Given the description of an element on the screen output the (x, y) to click on. 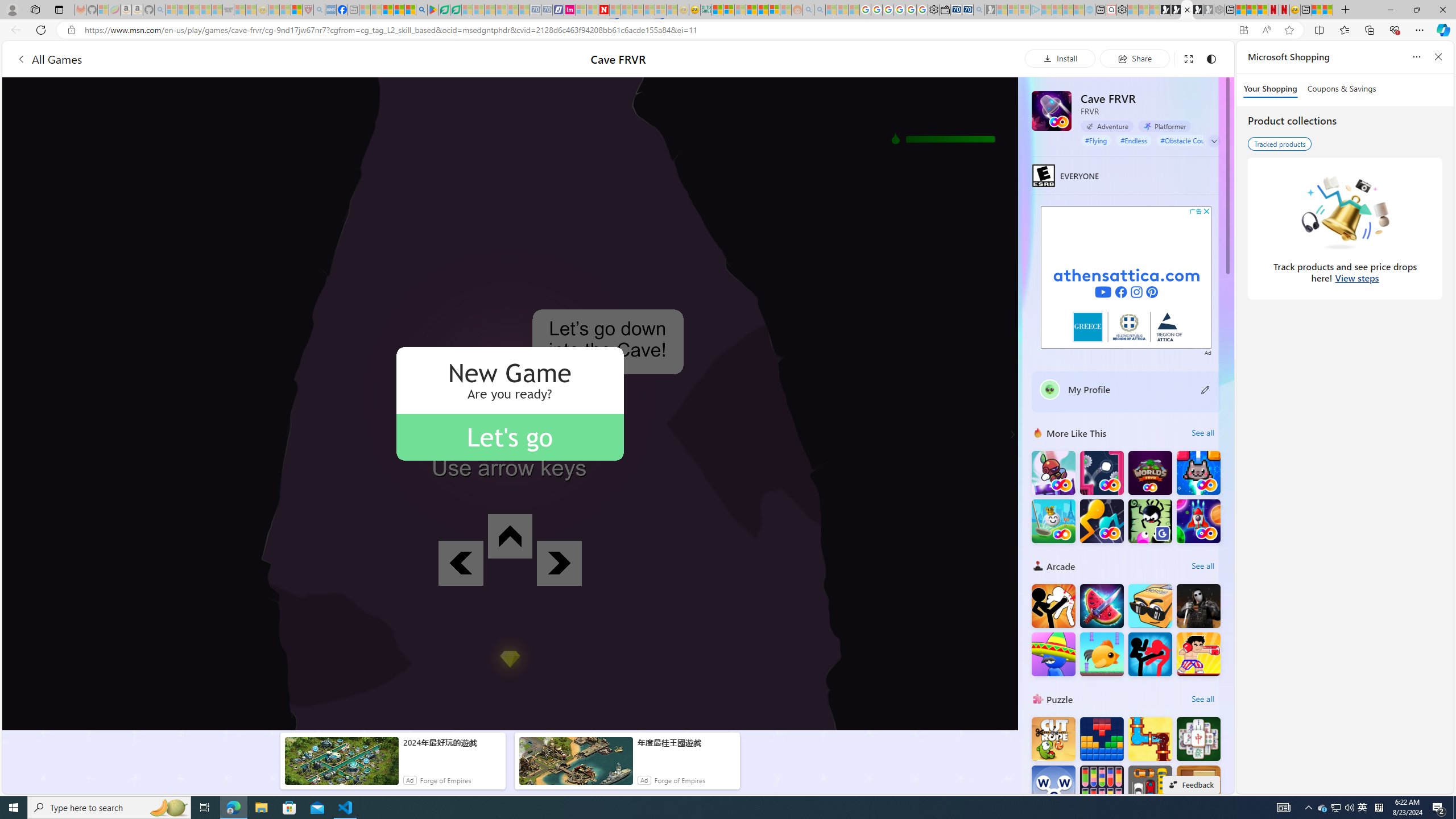
AutomationID: gameCanvas (509, 403)
Kinda Frugal - MSN (762, 9)
Forge of Empires (679, 779)
Stickman Fighter : Mega Brawl (1053, 605)
#Flying (1096, 140)
Share (1134, 58)
Combat Siege (228, 9)
Bing Real Estate - Home sales and rental listings - Sleeping (979, 9)
list of asthma inhalers uk - Search - Sleeping (319, 9)
""'s avatar (1049, 389)
